Given the description of an element on the screen output the (x, y) to click on. 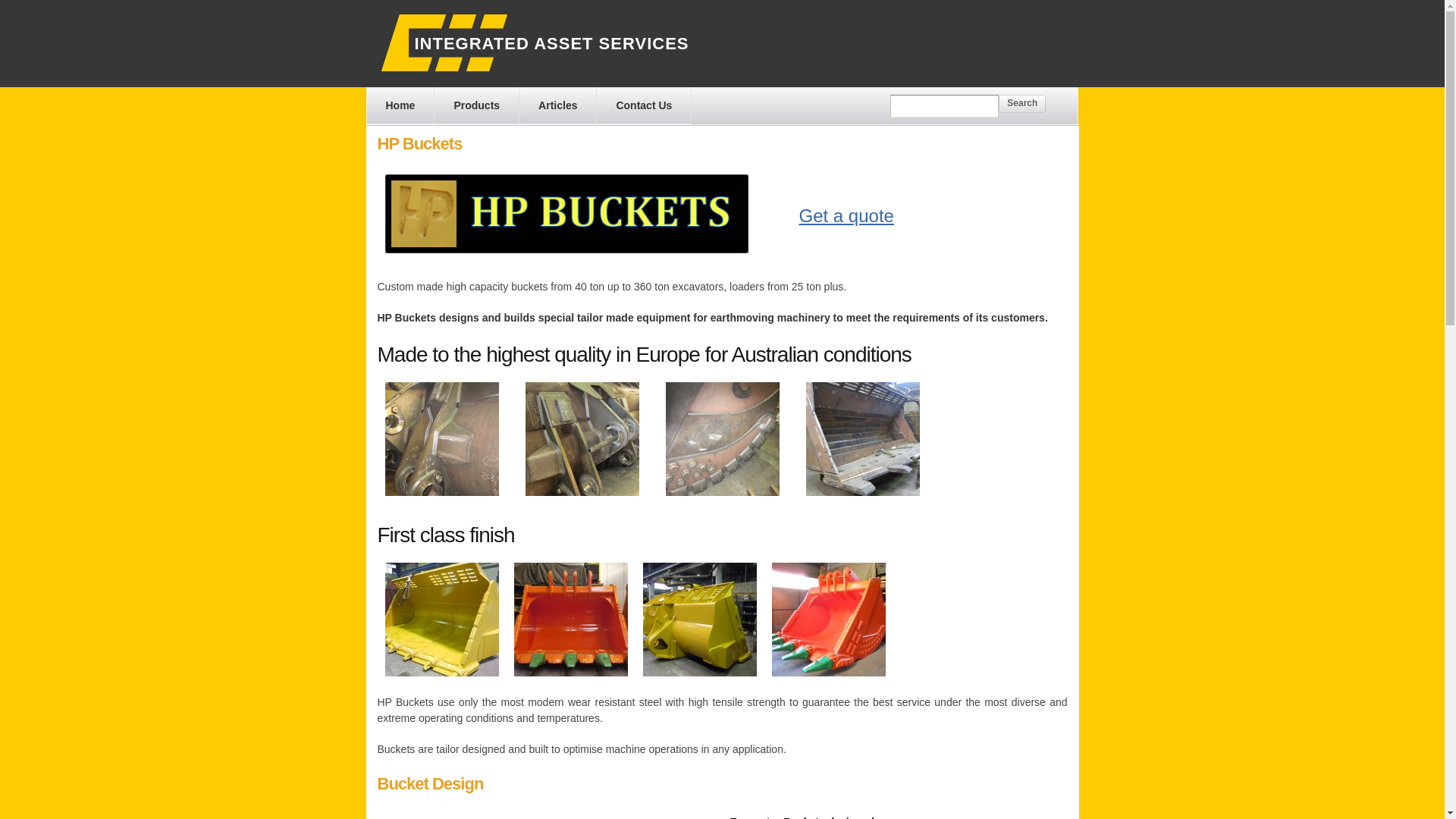
Get a quote Element type: text (846, 215)
HP Buckets Element type: hover (570, 619)
INTEGRATED ASSET SERVICES Element type: text (551, 43)
Articles Element type: text (557, 105)
Image 12 Element type: hover (699, 619)
Search Element type: text (1021, 103)
Image 20 Element type: hover (441, 619)
europe and sth africa 091 Element type: hover (862, 438)
europe and sth africa 087 Element type: hover (722, 438)
europe and sth africa 084 Element type: hover (581, 438)
Home Element type: text (400, 105)
Products Element type: text (476, 105)
europe and sth africa 094 Element type: hover (441, 438)
Contact Us Element type: text (643, 105)
Image 3 Element type: hover (828, 619)
